Given the description of an element on the screen output the (x, y) to click on. 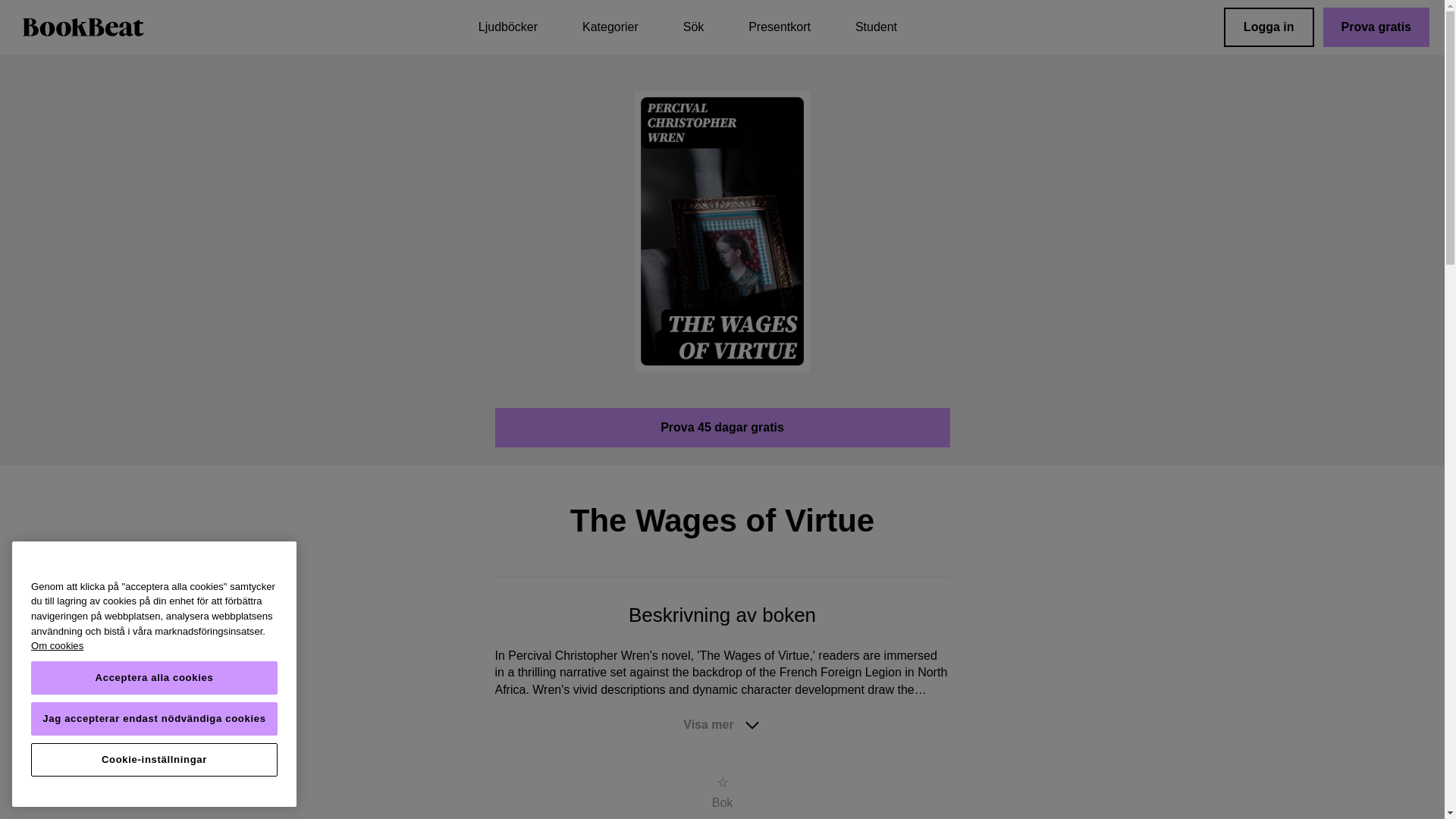
Visa mer (722, 724)
Kategorier (610, 27)
Student (876, 27)
Logga in (1269, 26)
The Wages of Virtue (722, 230)
Prova 45 dagar gratis (722, 427)
Prova gratis (1376, 26)
Presentkort (779, 27)
